Given the description of an element on the screen output the (x, y) to click on. 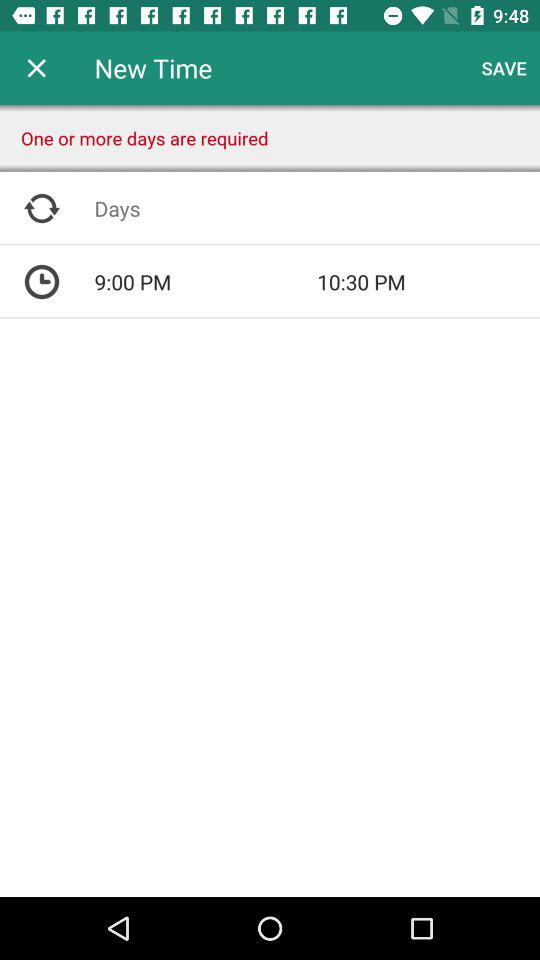
scroll to 9:00 pm item (205, 281)
